Given the description of an element on the screen output the (x, y) to click on. 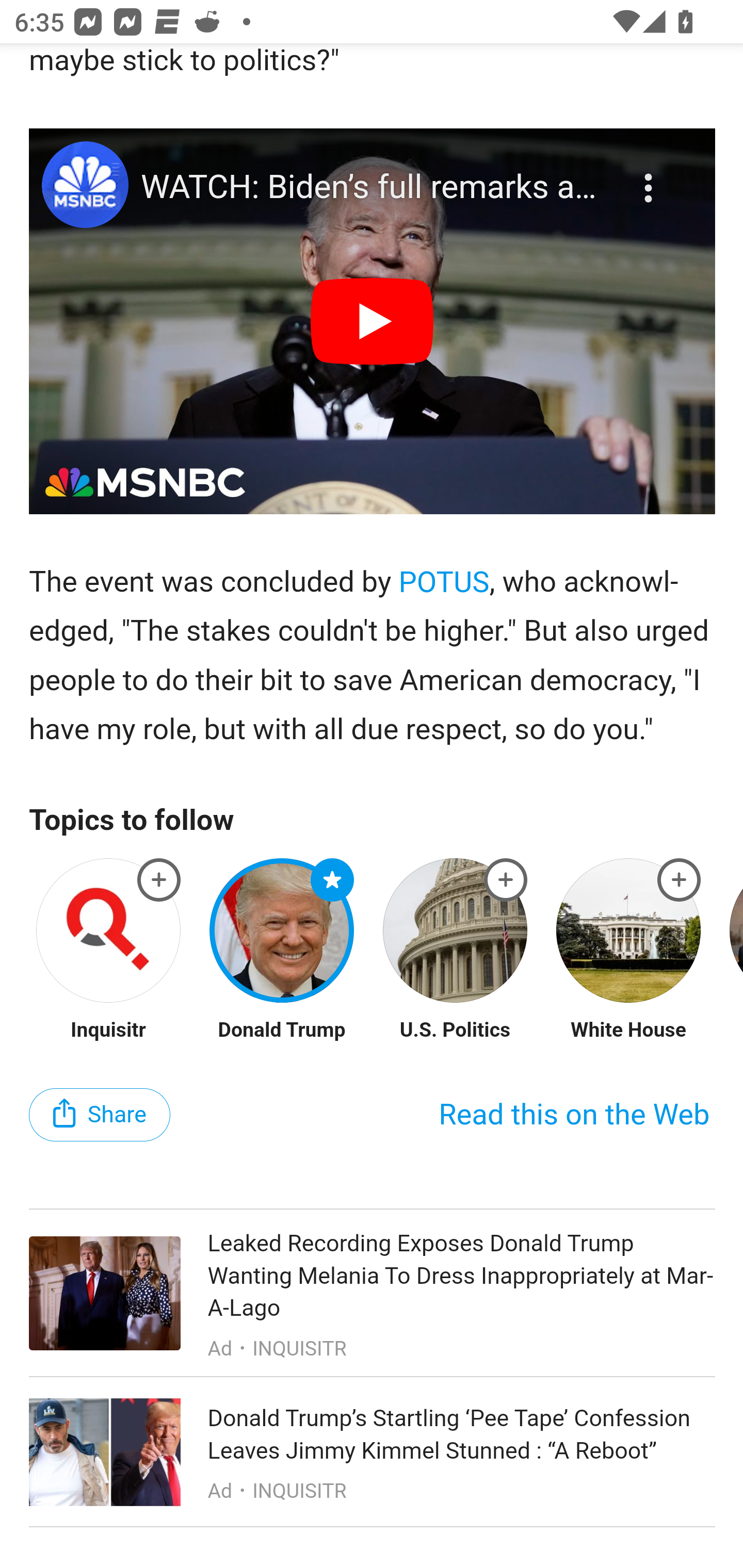
More (650, 177)
Photo image of MSNBC (84, 185)
Play (372, 322)
POTUS (444, 582)
Inquisitr (107, 1030)
Donald Trump (281, 1030)
U.S. Politics (454, 1030)
White House (629, 1030)
Read this on the Web (573, 1116)
Share (99, 1116)
